Given the description of an element on the screen output the (x, y) to click on. 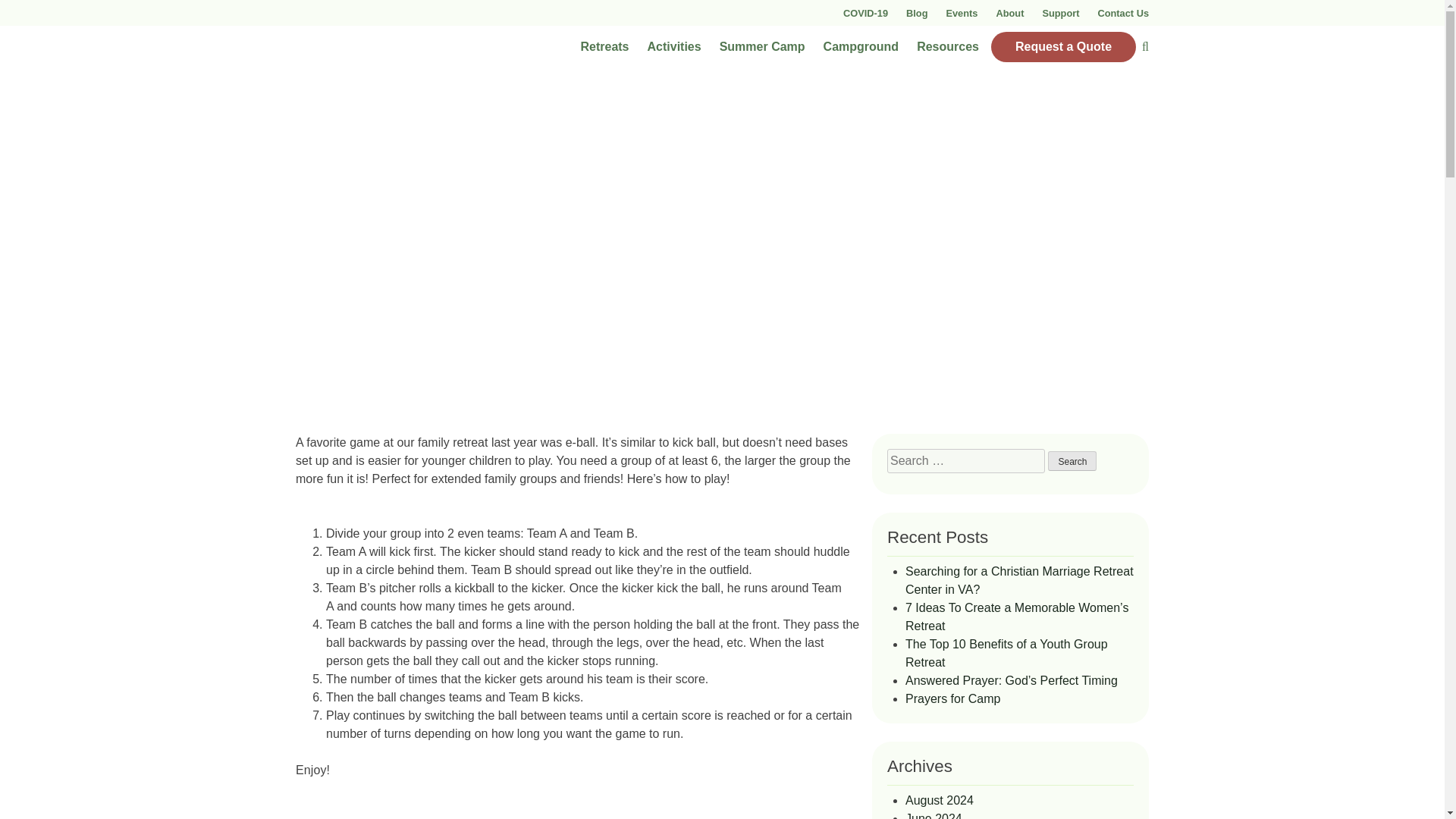
Contact Us (1122, 12)
Blog (916, 12)
About (1009, 12)
Search (1072, 460)
Support (1060, 12)
Events (960, 12)
Retreats (603, 46)
Search (1072, 460)
COVID-19 (865, 12)
